Given the description of an element on the screen output the (x, y) to click on. 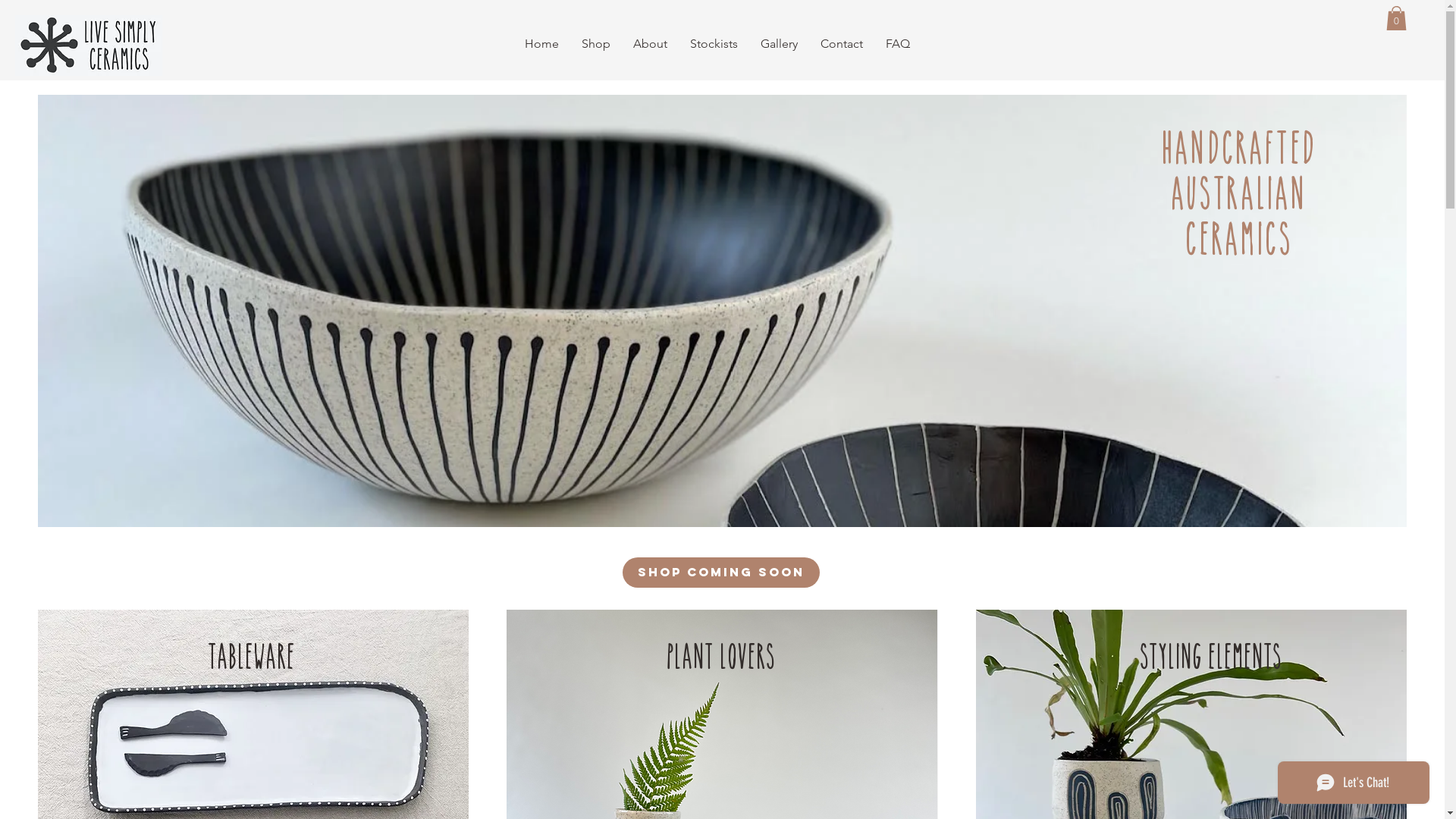
Stockists Element type: text (712, 43)
Copy of Copy of Live Simply Logo_edited.png Element type: hover (88, 45)
Contact Element type: text (840, 43)
Shop Coming Soon Element type: text (720, 572)
FAQ Element type: text (896, 43)
TABLEWARE Element type: text (252, 655)
About Element type: text (649, 43)
Home Element type: text (540, 43)
STYLING ELEMENTS Element type: text (1212, 655)
PLANT LOVERS Element type: text (721, 655)
0 Element type: text (1396, 18)
Gallery Element type: text (779, 43)
Shop Element type: text (595, 43)
